Given the description of an element on the screen output the (x, y) to click on. 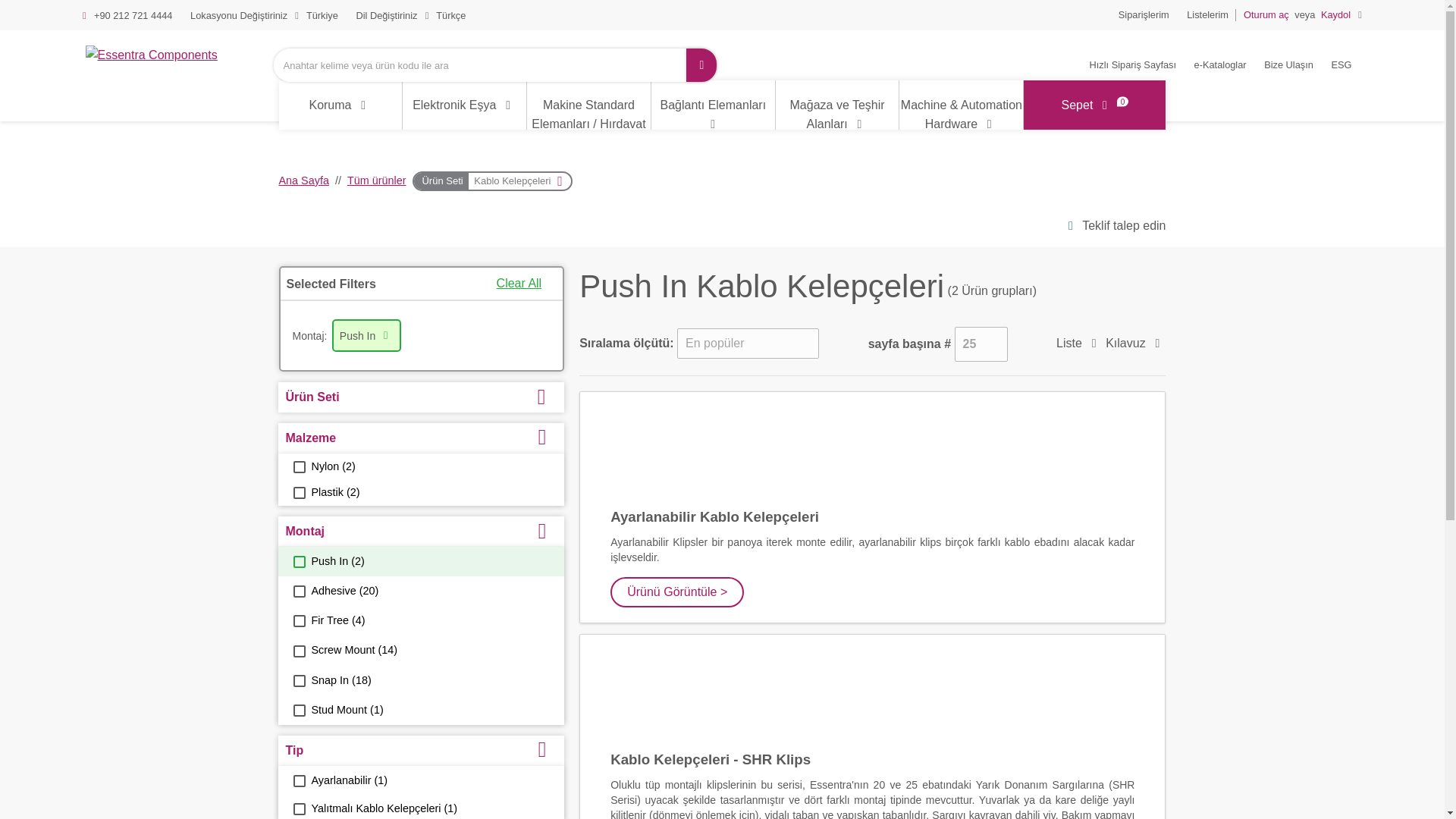
Snap In (298, 680)
Stud Mount (298, 710)
Screw Mount (298, 650)
Push In (298, 562)
Plastik (298, 492)
Adhesive (298, 591)
Ayarlanabilir (298, 780)
Fir Tree (298, 621)
Nylon (298, 467)
